Given the description of an element on the screen output the (x, y) to click on. 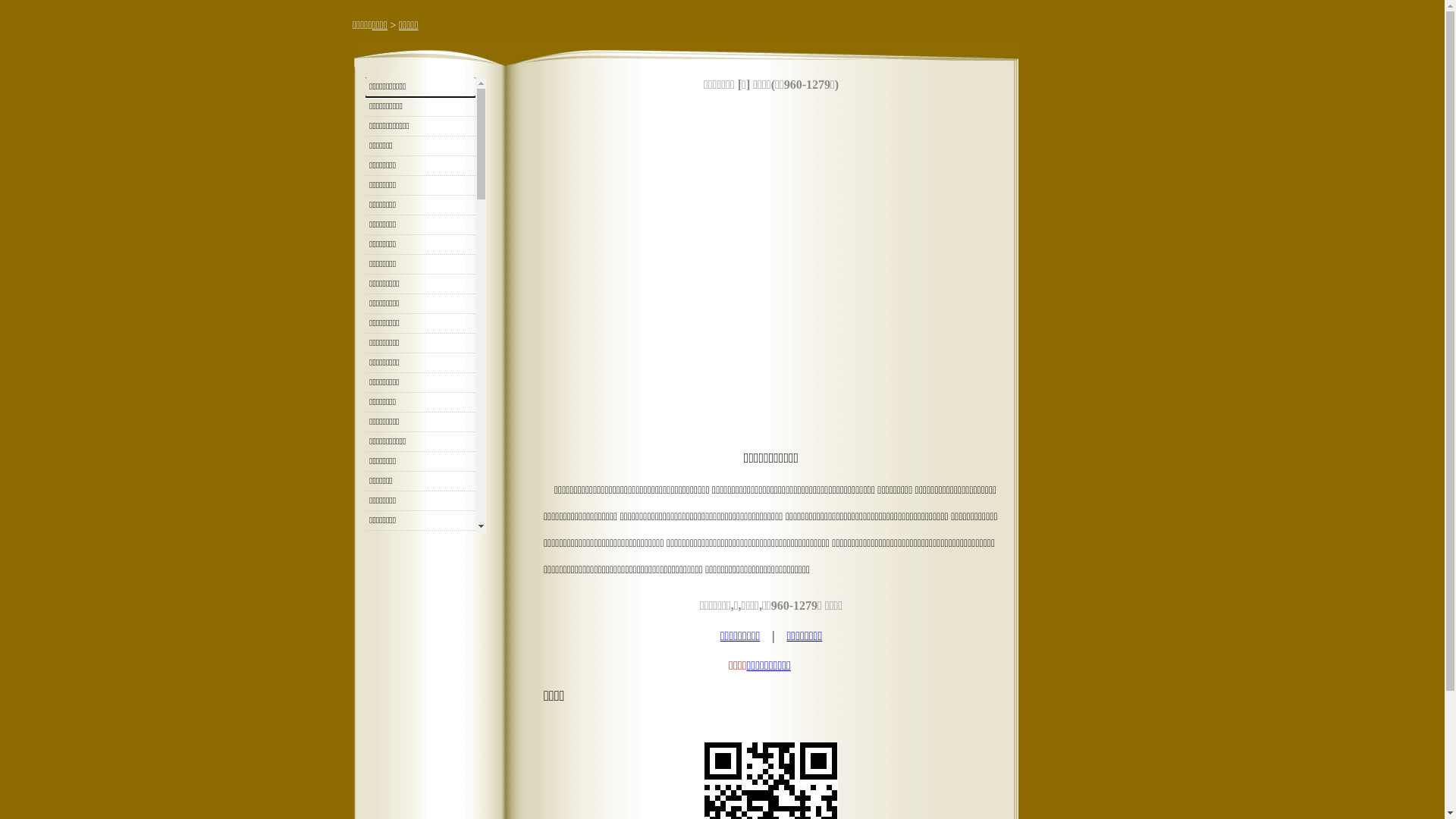
Advertisement Element type: hover (771, 273)
